Given the description of an element on the screen output the (x, y) to click on. 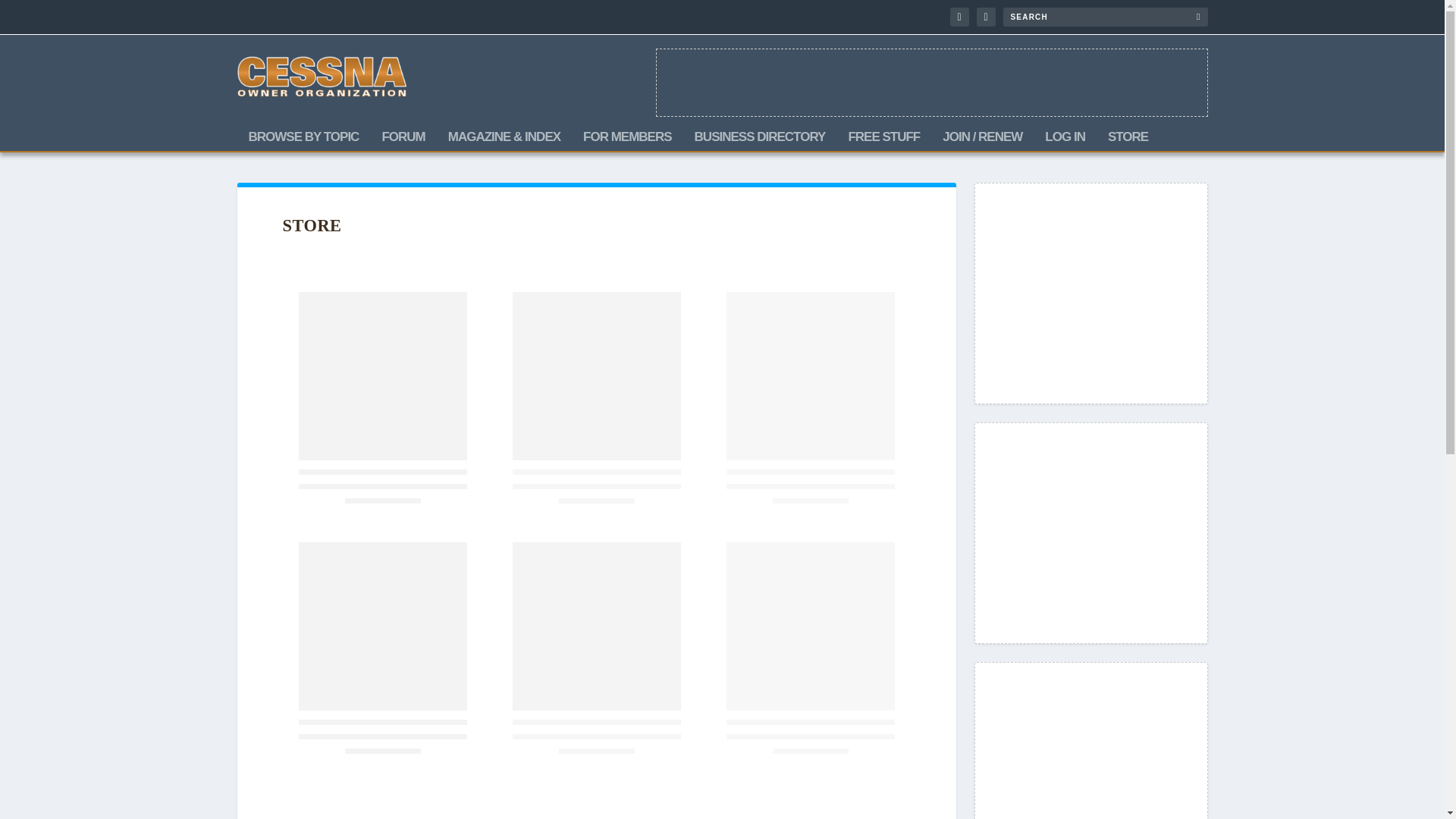
FREE STUFF (883, 140)
FOR MEMBERS (627, 140)
FORUM (403, 140)
BUSINESS DIRECTORY (759, 140)
Search for: (1105, 16)
LOG IN (1064, 140)
STORE (1128, 140)
BROWSE BY TOPIC (303, 140)
